Given the description of an element on the screen output the (x, y) to click on. 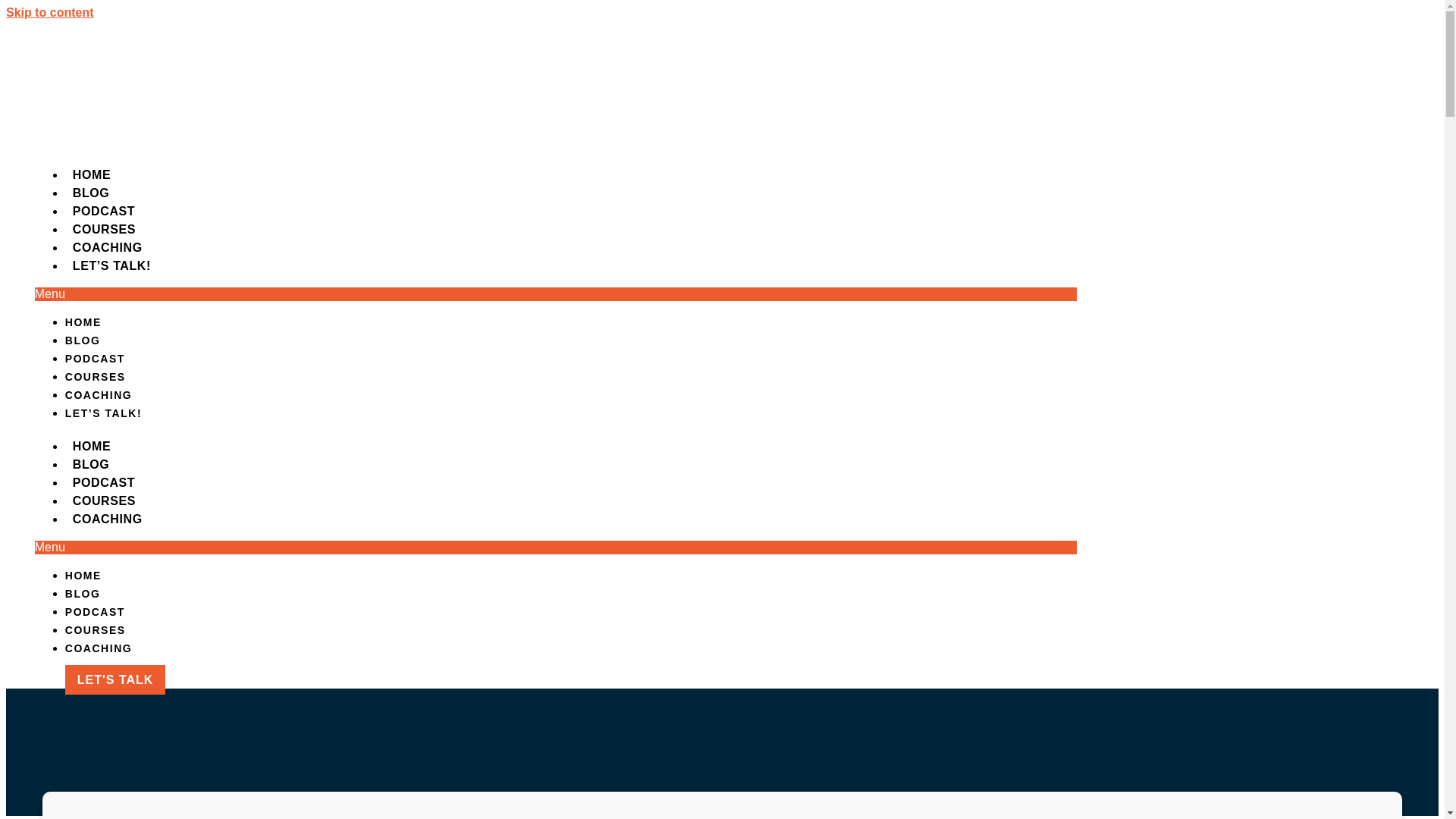
BLOG (82, 593)
HOME (83, 322)
HOME (91, 174)
COACHING (98, 648)
HOME (83, 575)
HOME (91, 445)
COURSES (103, 500)
LET'S TALK (115, 679)
BLOG (91, 464)
COURSES (95, 377)
PODCAST (103, 482)
COURSES (95, 630)
COACHING (98, 395)
PODCAST (95, 358)
PODCAST (103, 210)
